Given the description of an element on the screen output the (x, y) to click on. 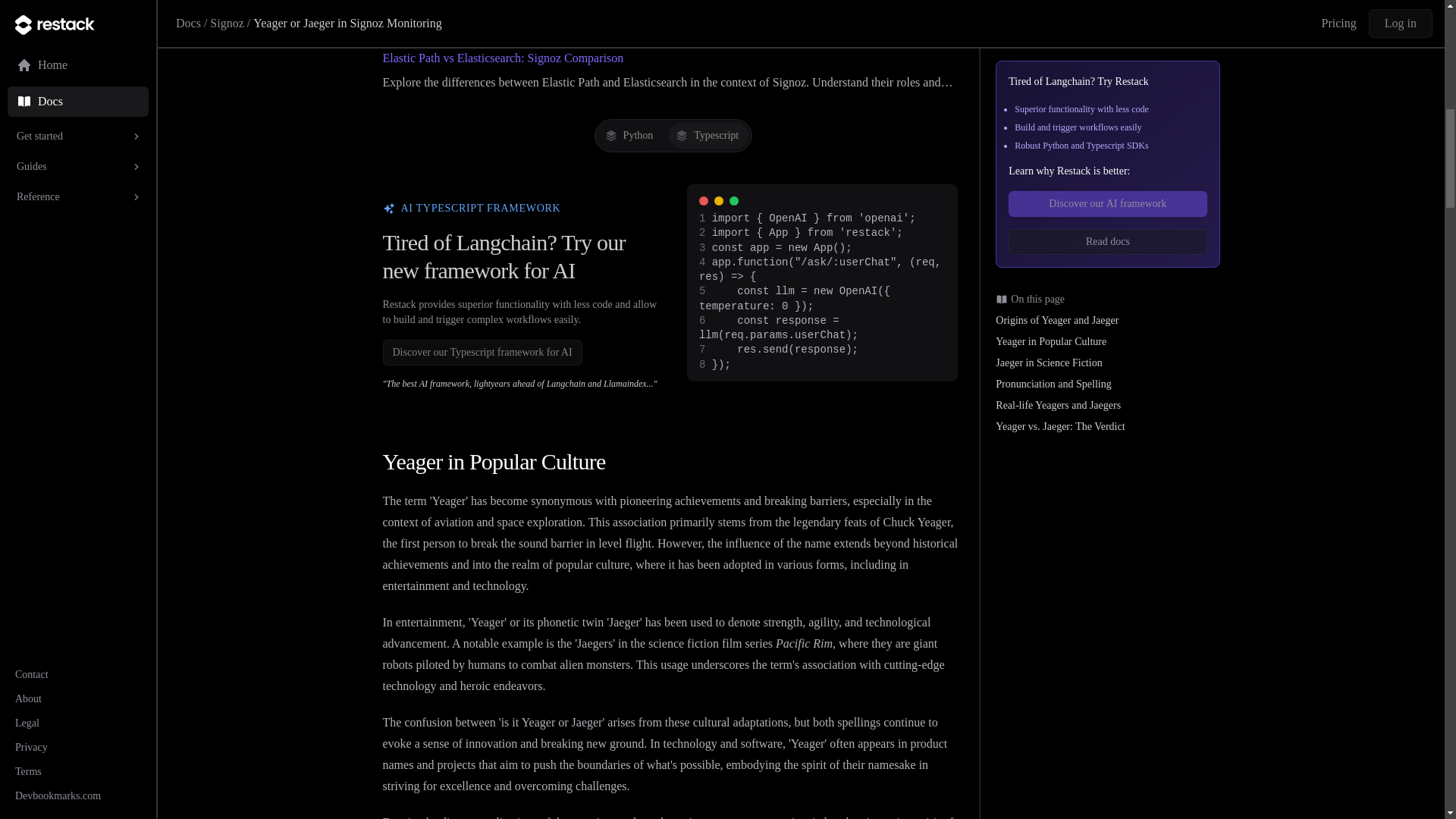
Open Source Observability with Signoz (478, 4)
Elastic Path vs Elasticsearch: Signoz Comparison (502, 57)
Python (630, 135)
Typescript (708, 135)
Discover our Typescript framework for AI (480, 351)
Discover our Typescript framework for AI (480, 352)
